Given the description of an element on the screen output the (x, y) to click on. 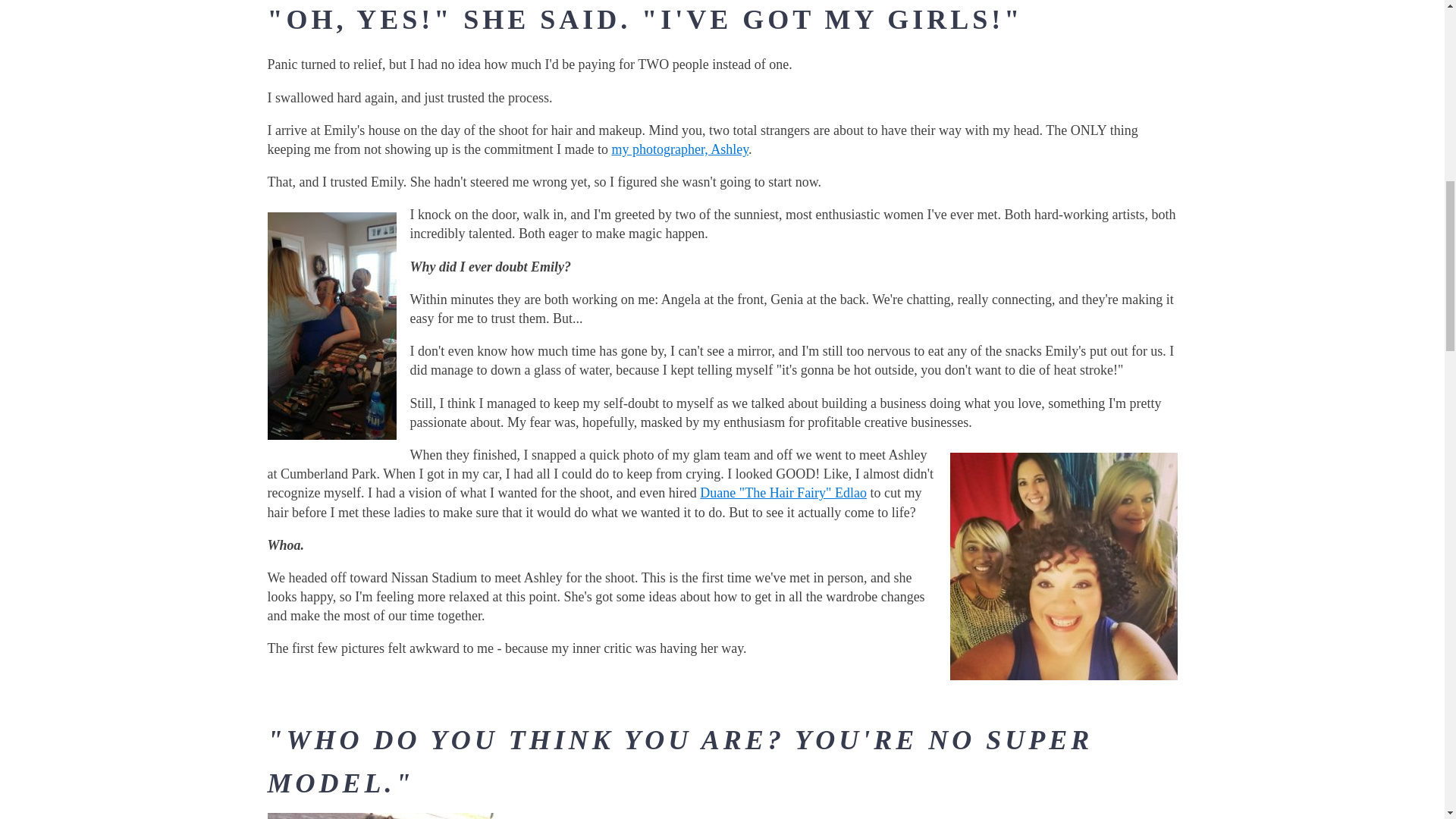
Duane "The Hair Fairy" Edlao (783, 492)
my photographer, Ashley (679, 149)
